Given the description of an element on the screen output the (x, y) to click on. 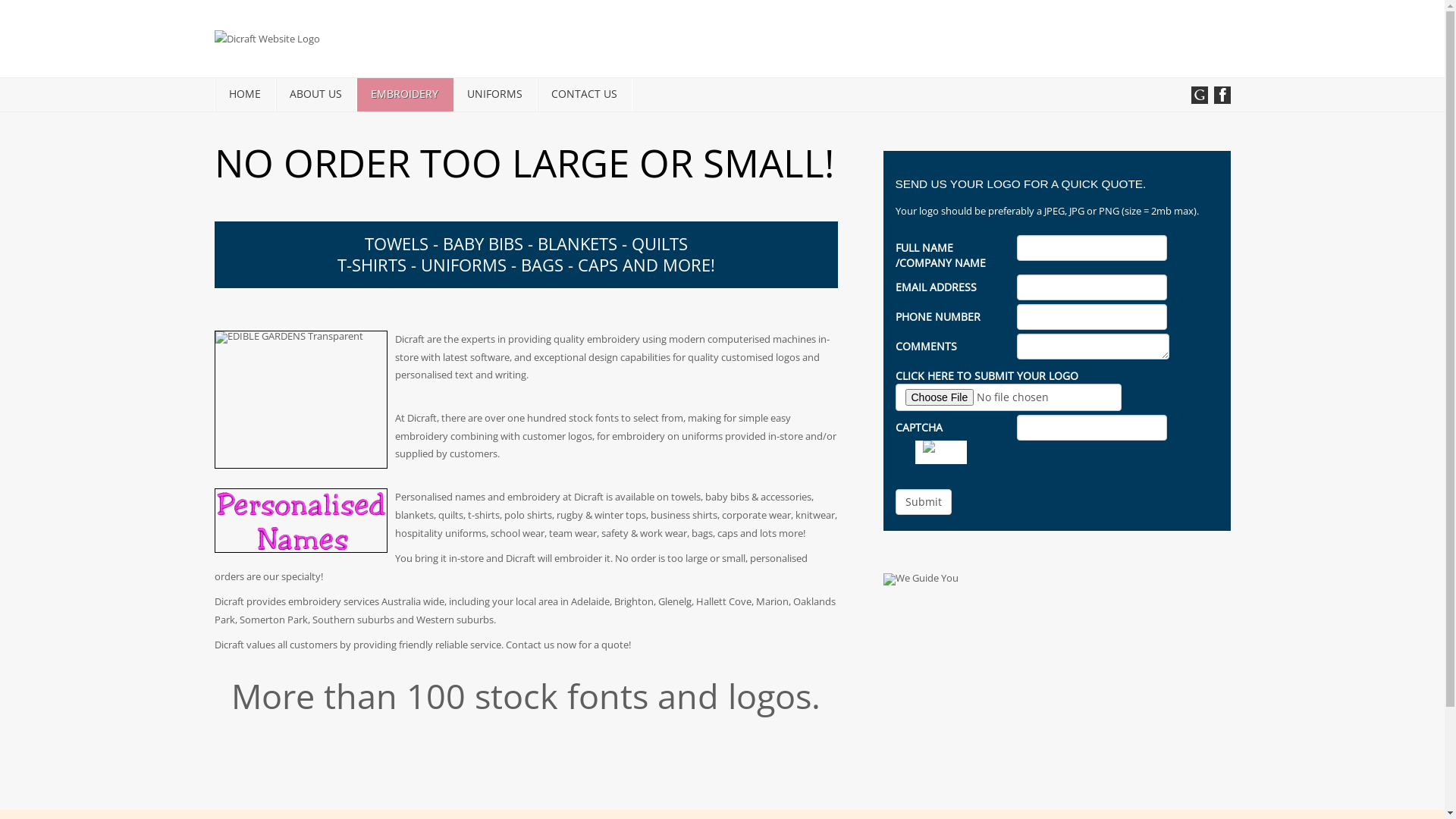
HOME Element type: text (244, 93)
Submit Element type: text (922, 501)
UNIFORMS Element type: text (494, 93)
CONTACT US Element type: text (583, 93)
ABOUT US Element type: text (315, 93)
EMBROIDERY Element type: text (403, 93)
